Given the description of an element on the screen output the (x, y) to click on. 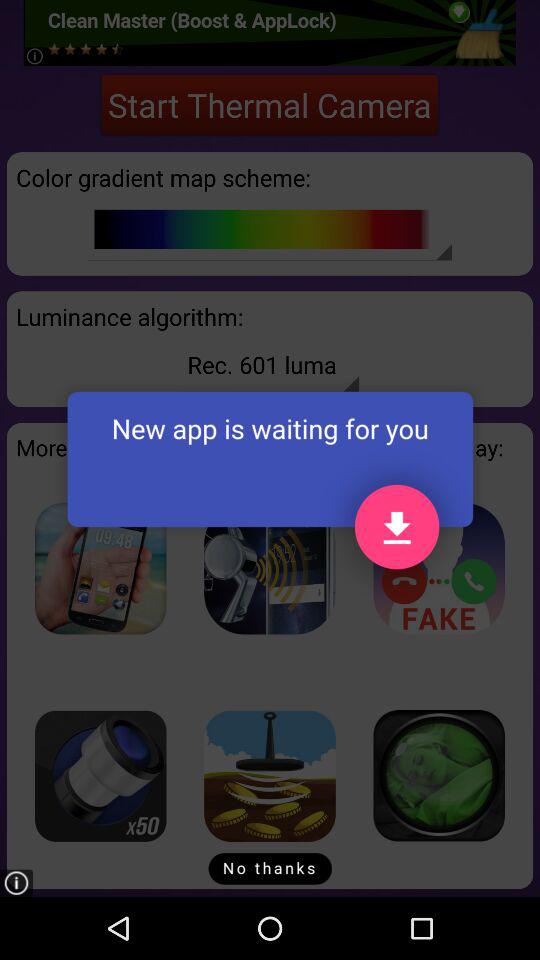
toggle telescope (100, 776)
